Given the description of an element on the screen output the (x, y) to click on. 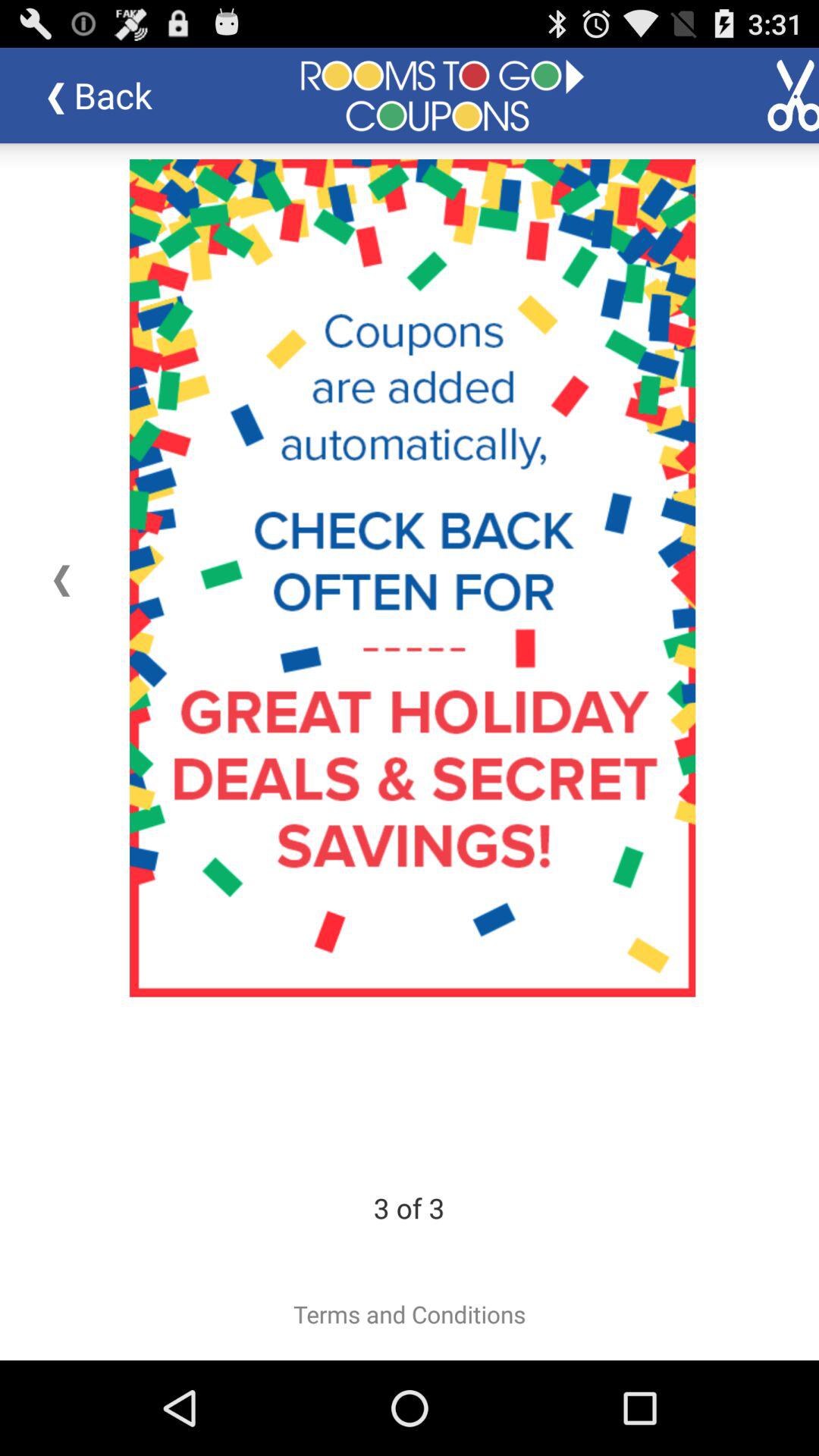
jump until terms and conditions icon (409, 1313)
